Given the description of an element on the screen output the (x, y) to click on. 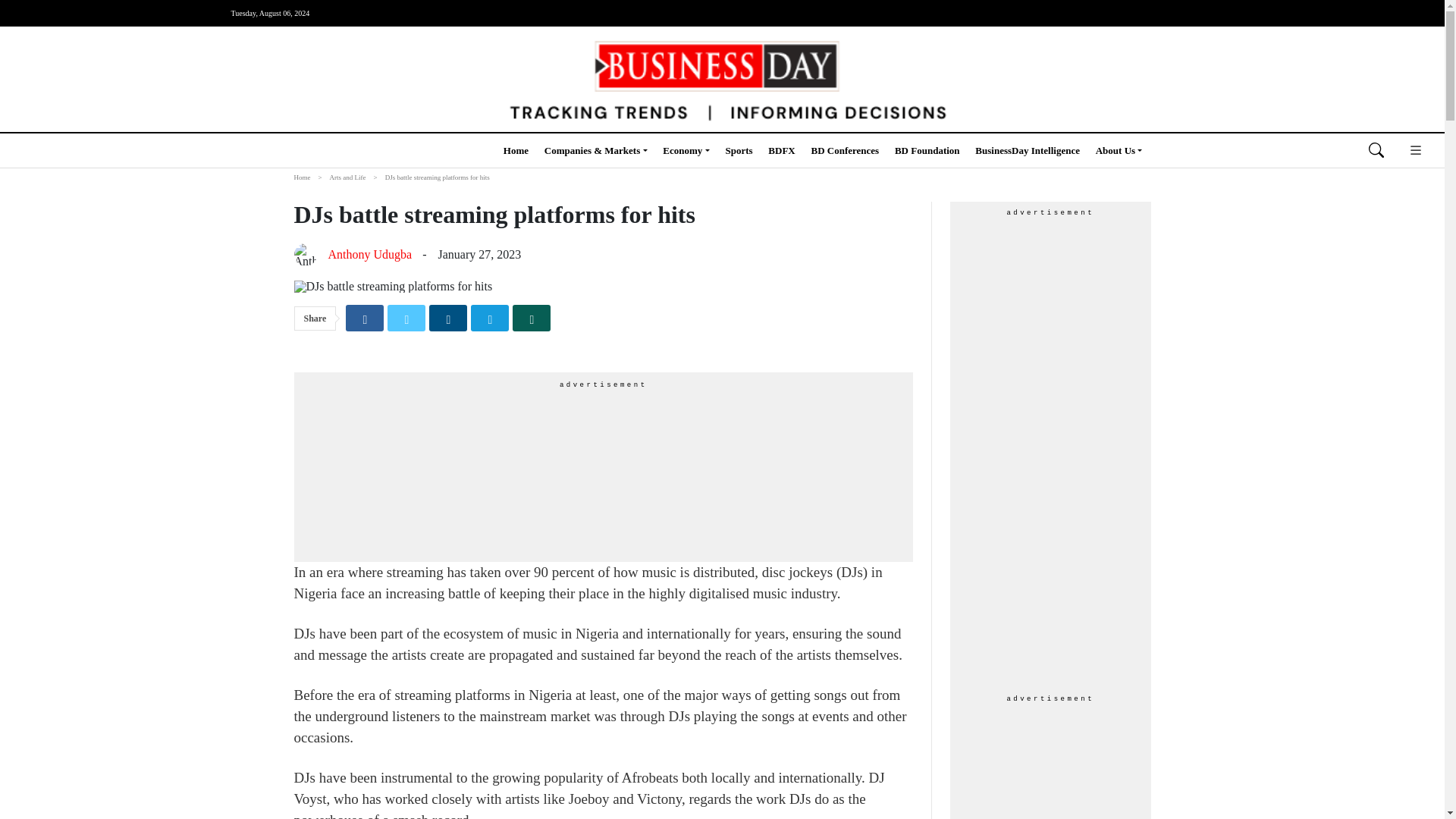
About Us (1119, 149)
BD Foundation (927, 149)
BD Conferences (844, 149)
BD Foundation (927, 149)
Economy (685, 149)
BusinessDay Intelligence (1027, 149)
Economy (685, 149)
About Us (1119, 149)
BD Conferences (844, 149)
BusinessDay Intelligence (1027, 149)
